Given the description of an element on the screen output the (x, y) to click on. 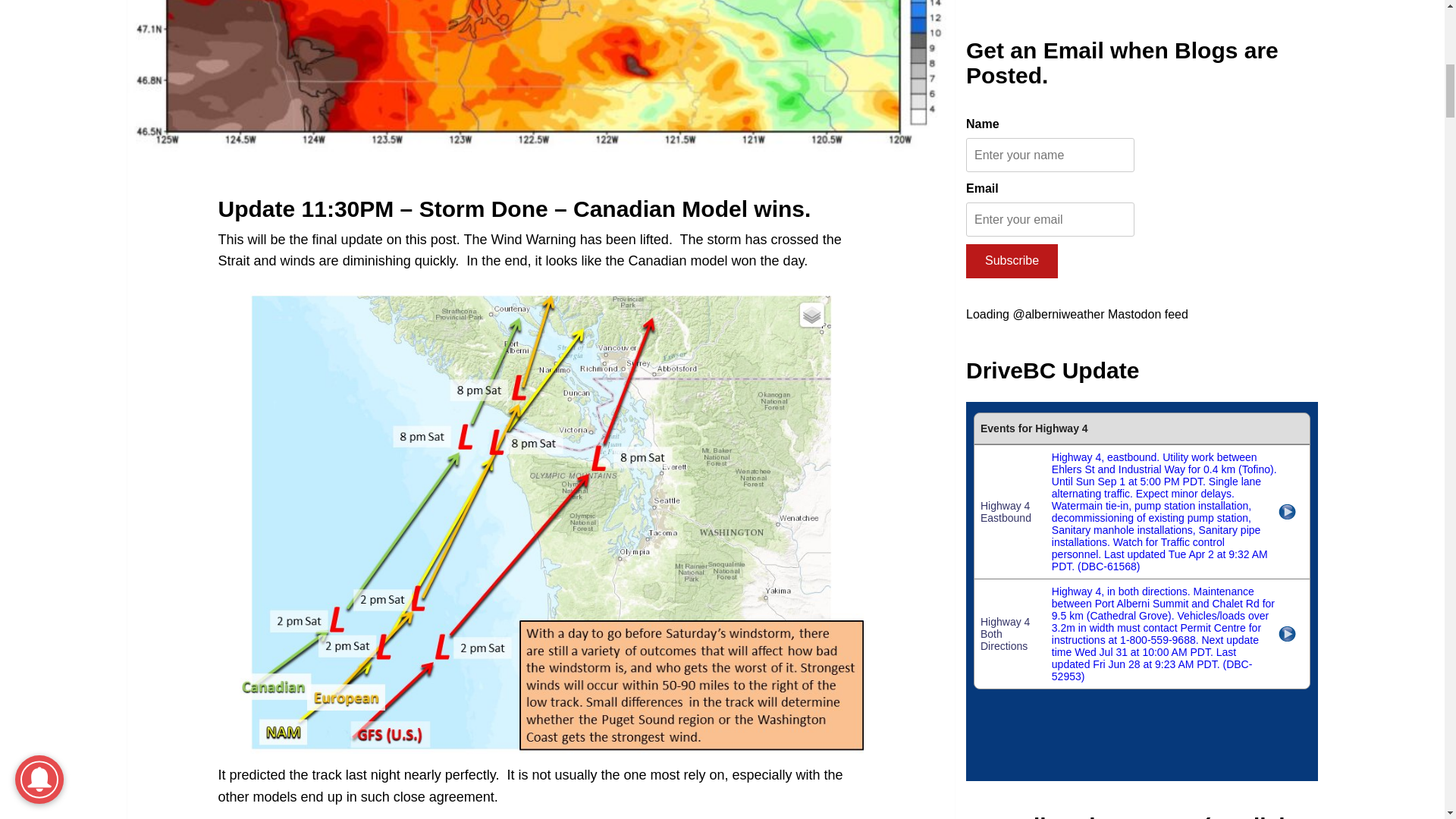
BC Highway 4 (1141, 72)
VI Inland Forecast (1141, 436)
